Given the description of an element on the screen output the (x, y) to click on. 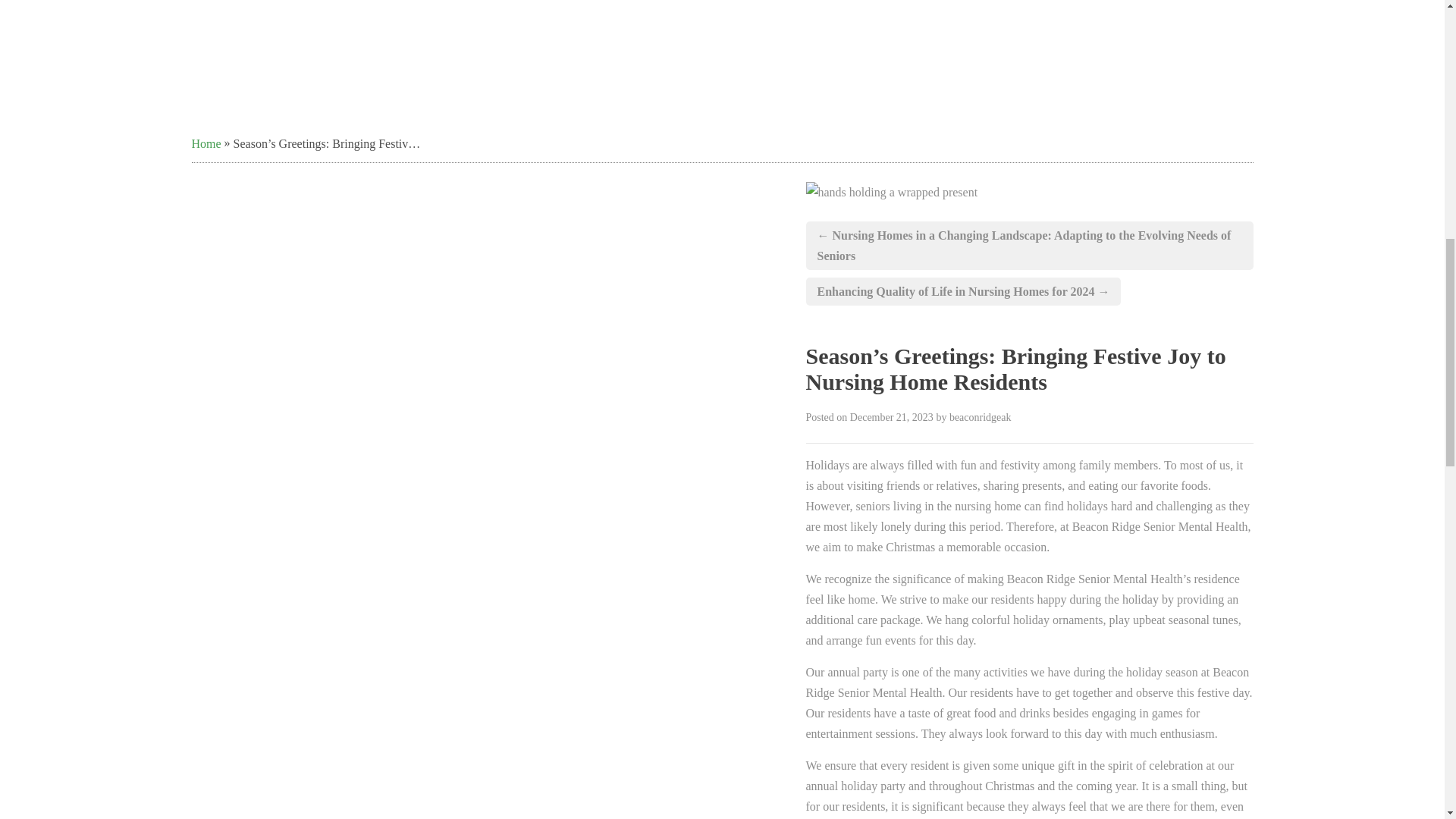
beaconridgeak (980, 417)
December 21, 2023 (891, 417)
4:59 am (891, 417)
Home (205, 143)
View all posts by beaconridgeak (980, 417)
